Given the description of an element on the screen output the (x, y) to click on. 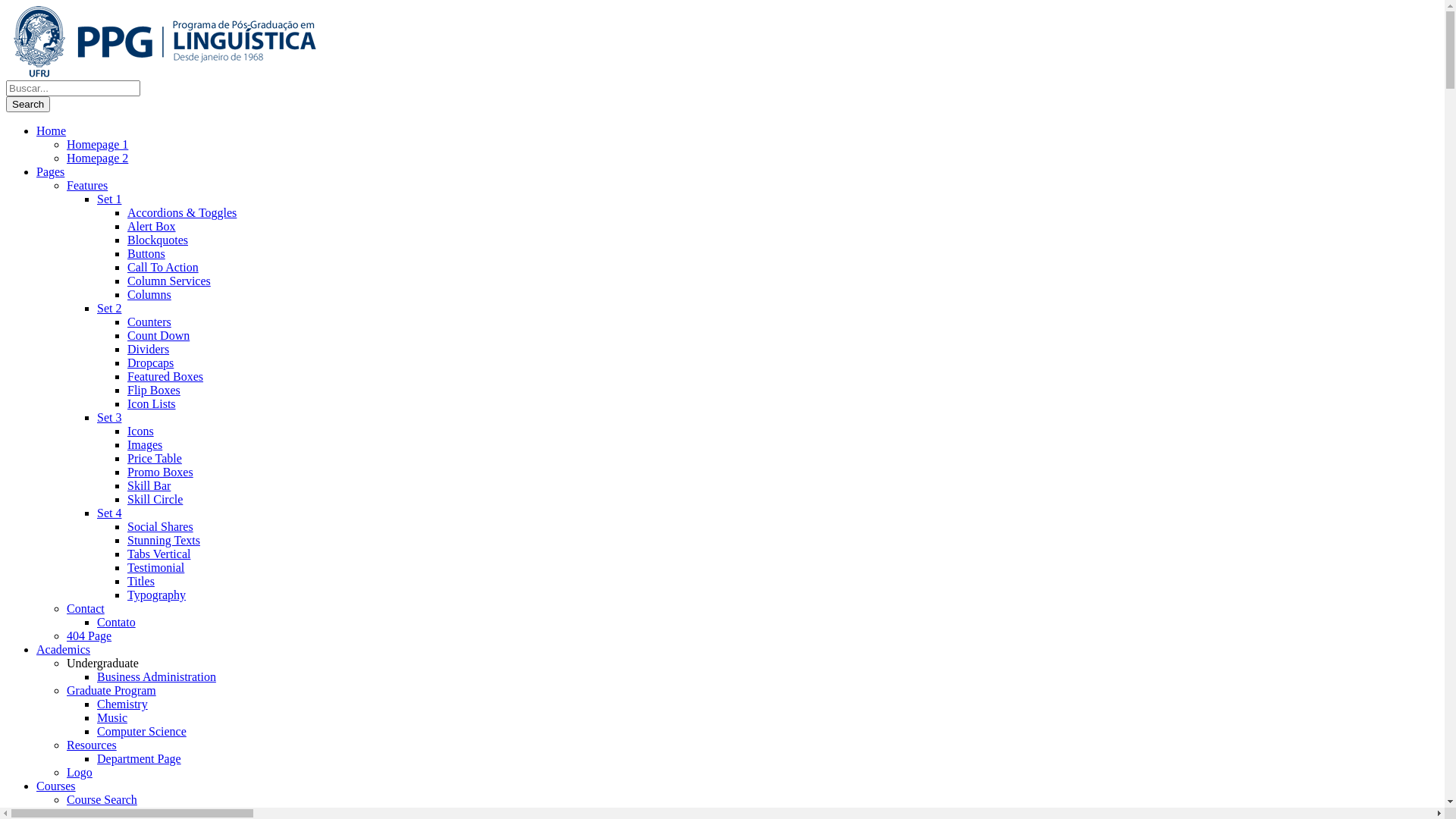
Columns Element type: text (149, 294)
Titles Element type: text (140, 580)
Call To Action Element type: text (162, 266)
Column Services Element type: text (168, 280)
Course Search Element type: text (101, 799)
Icons Element type: text (140, 430)
Search Element type: text (28, 104)
Price Table Element type: text (154, 457)
Testimonial Element type: text (155, 567)
Courses Element type: text (55, 785)
Undergraduate Element type: text (102, 662)
Home Element type: text (50, 130)
Buttons Element type: text (146, 253)
Resources Element type: text (91, 744)
Images Element type: text (144, 444)
Featured Boxes Element type: text (165, 376)
Skill Circle Element type: text (154, 498)
Graduate Program Element type: text (111, 690)
Homepage 2 Element type: text (97, 157)
Skill Bar Element type: text (148, 485)
Business Administration Element type: text (156, 676)
Contact Element type: text (85, 608)
Computer Science Element type: text (141, 730)
Music Element type: text (112, 717)
Typography Element type: text (156, 594)
Alert Box Element type: text (151, 225)
404 Page Element type: text (88, 635)
Tabs Vertical Element type: text (158, 553)
Icon Lists Element type: text (151, 403)
Count Down Element type: text (158, 335)
Logo Element type: text (79, 771)
Set 3 Element type: text (109, 417)
Accordions & Toggles Element type: text (181, 212)
Chemistry Element type: text (122, 703)
Pages Element type: text (50, 171)
Flip Boxes Element type: text (153, 389)
Academics Element type: text (63, 649)
Set 4 Element type: text (109, 512)
Dividers Element type: text (148, 348)
logo-ppg-ufrj Element type: hover (164, 41)
Set 2 Element type: text (109, 307)
Social Shares Element type: text (160, 526)
Homepage 1 Element type: text (97, 144)
Department Page Element type: text (139, 758)
Contato Element type: text (116, 621)
Counters Element type: text (149, 321)
Blockquotes Element type: text (157, 239)
Set 1 Element type: text (109, 198)
Promo Boxes Element type: text (160, 471)
Dropcaps Element type: text (150, 362)
Stunning Texts Element type: text (163, 539)
Features Element type: text (86, 184)
